Given the description of an element on the screen output the (x, y) to click on. 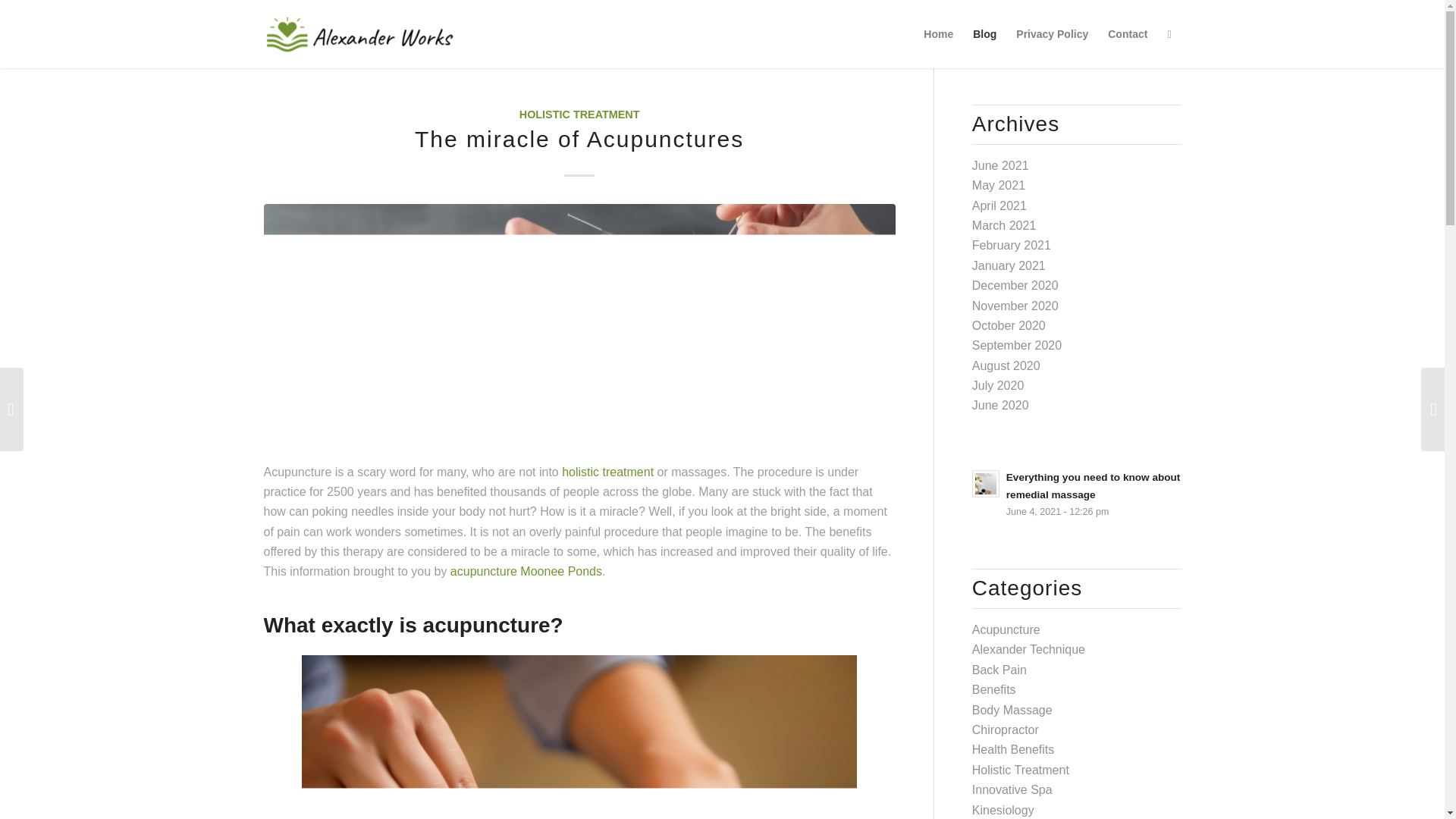
Privacy Policy (1051, 33)
The miracle of Acupunctures (579, 138)
January 2021 (1008, 265)
Permanent Link: The miracle of Acupunctures (579, 138)
March 2021 (1004, 225)
September 2020 (1016, 345)
HOLISTIC TREATMENT (579, 114)
May 2021 (998, 185)
February 2021 (1011, 245)
June 2021 (1000, 164)
